Given the description of an element on the screen output the (x, y) to click on. 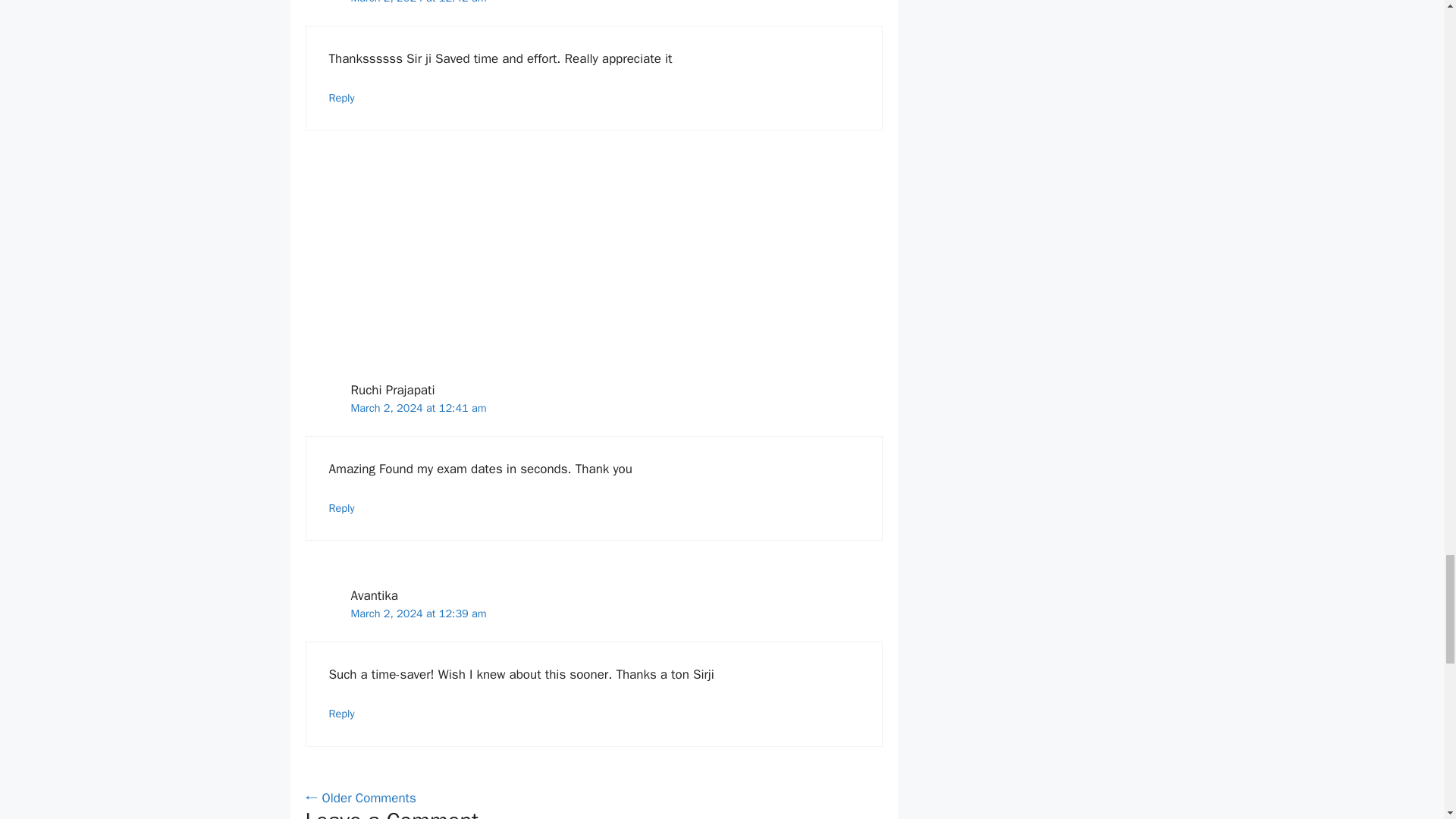
March 2, 2024 at 12:39 am (418, 612)
Reply (342, 508)
Reply (342, 713)
March 2, 2024 at 12:42 am (418, 2)
Reply (342, 97)
March 2, 2024 at 12:41 am (418, 407)
